Given the description of an element on the screen output the (x, y) to click on. 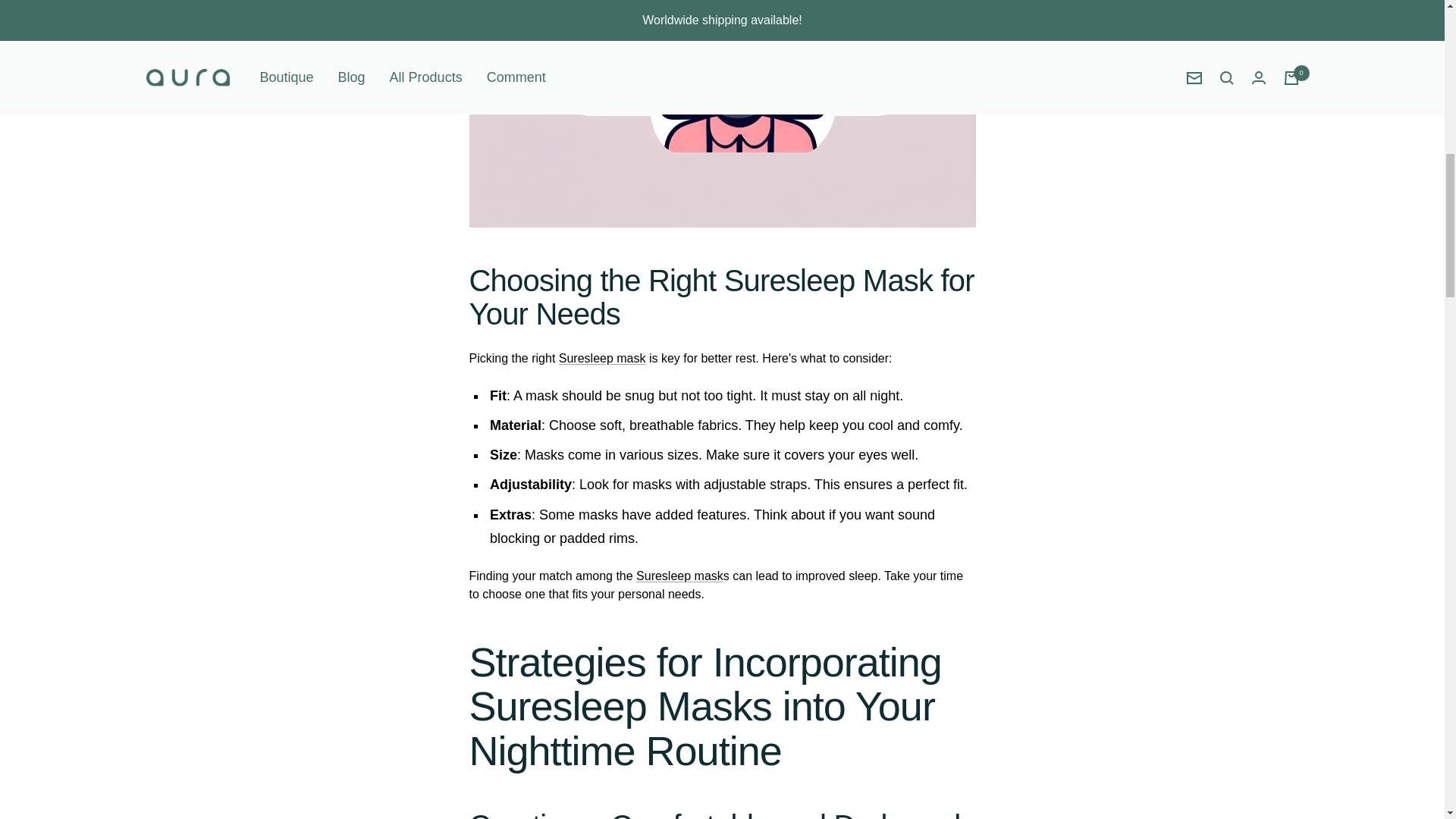
Suresleep mask (679, 575)
Suresleep mask (602, 358)
